Given the description of an element on the screen output the (x, y) to click on. 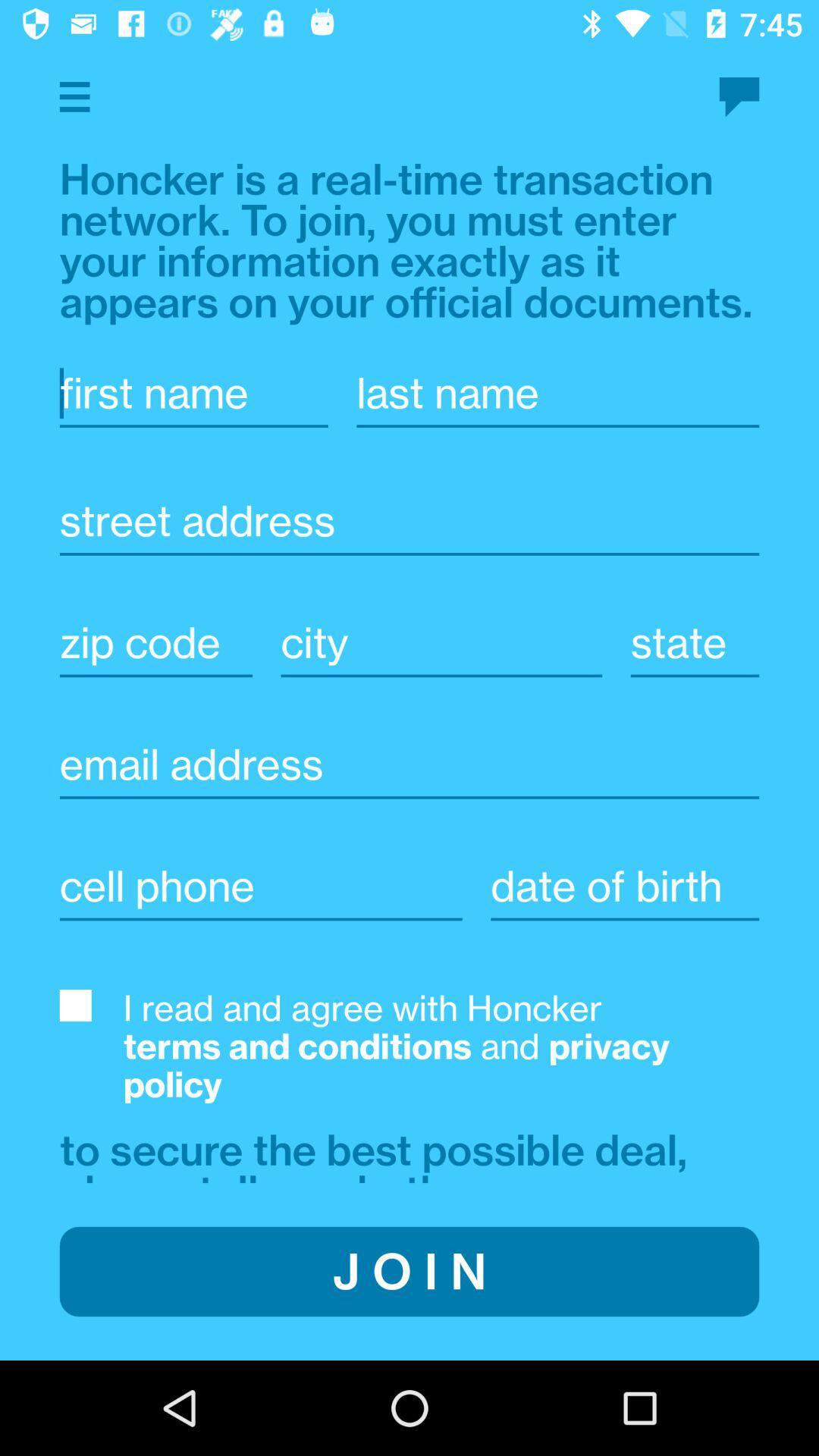
click the i read and item (441, 1046)
